Given the description of an element on the screen output the (x, y) to click on. 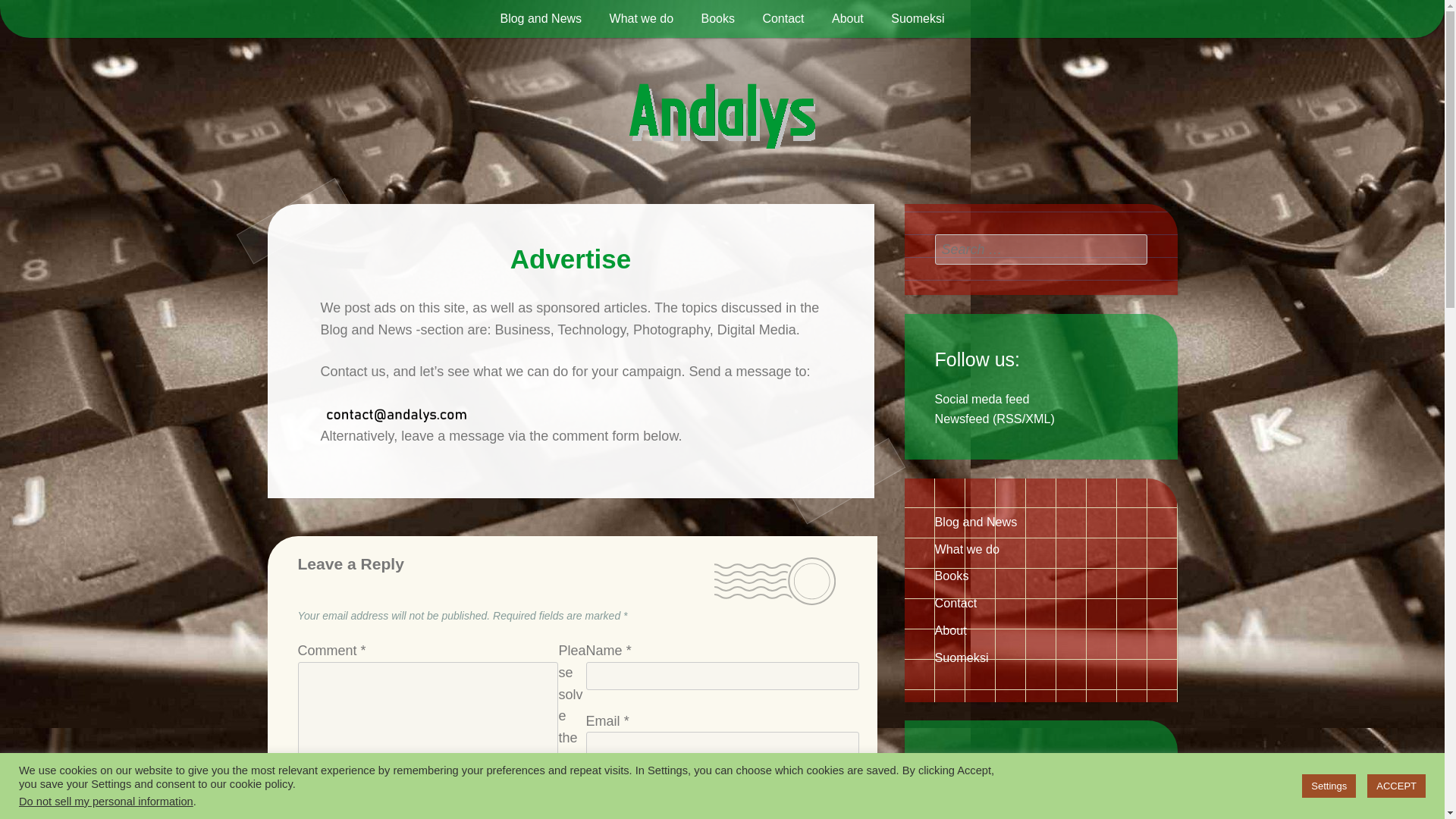
Contact (782, 18)
Blog and News (975, 521)
What we do (640, 18)
Social meda feed (981, 398)
Andalys (384, 115)
Search (1131, 249)
Search (1131, 249)
Suomeksi (961, 657)
Ebook downloads for travelers (1016, 806)
Books (951, 575)
